Given the description of an element on the screen output the (x, y) to click on. 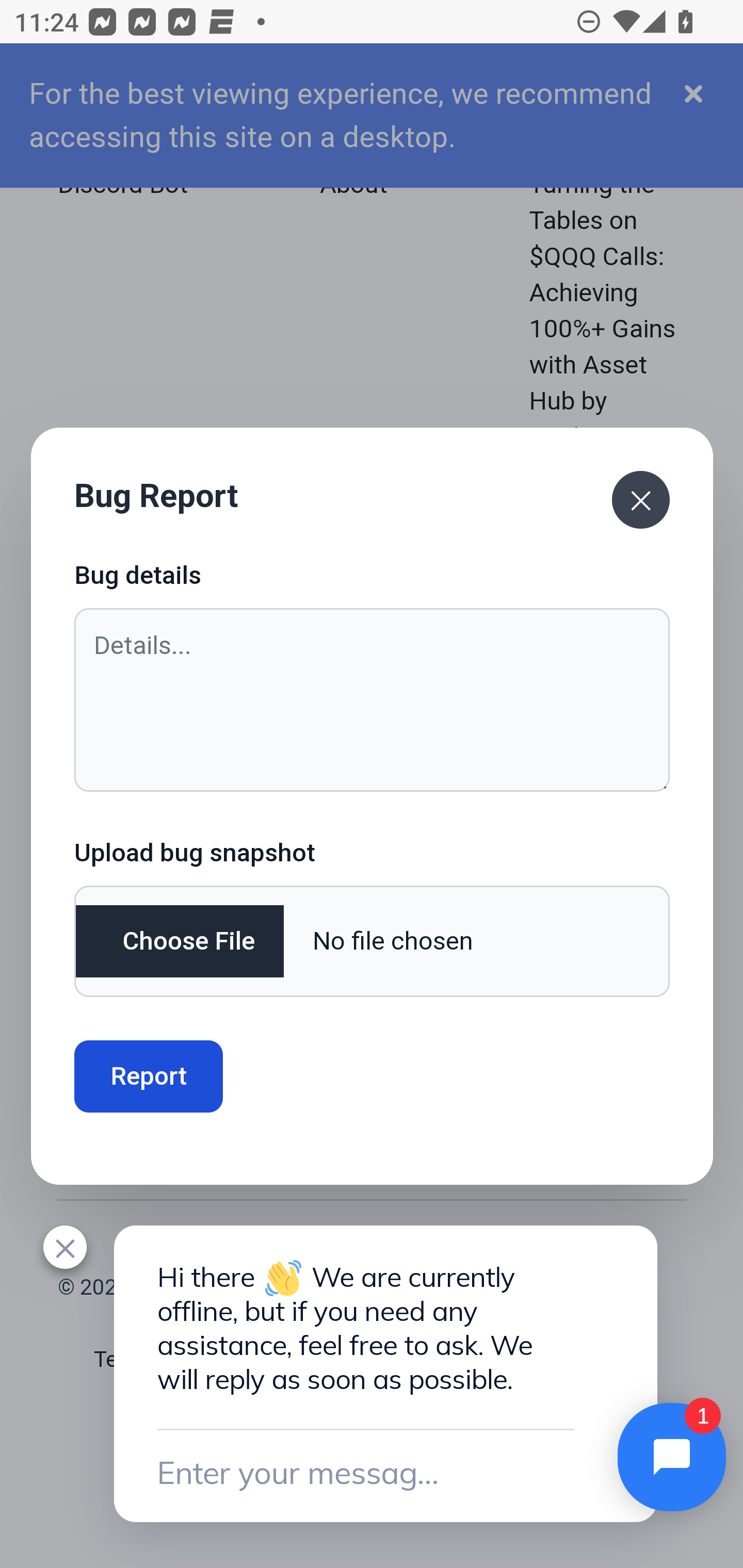
Upload bug snapshot: No file chosen (371, 941)
Report (148, 1076)
